Given the description of an element on the screen output the (x, y) to click on. 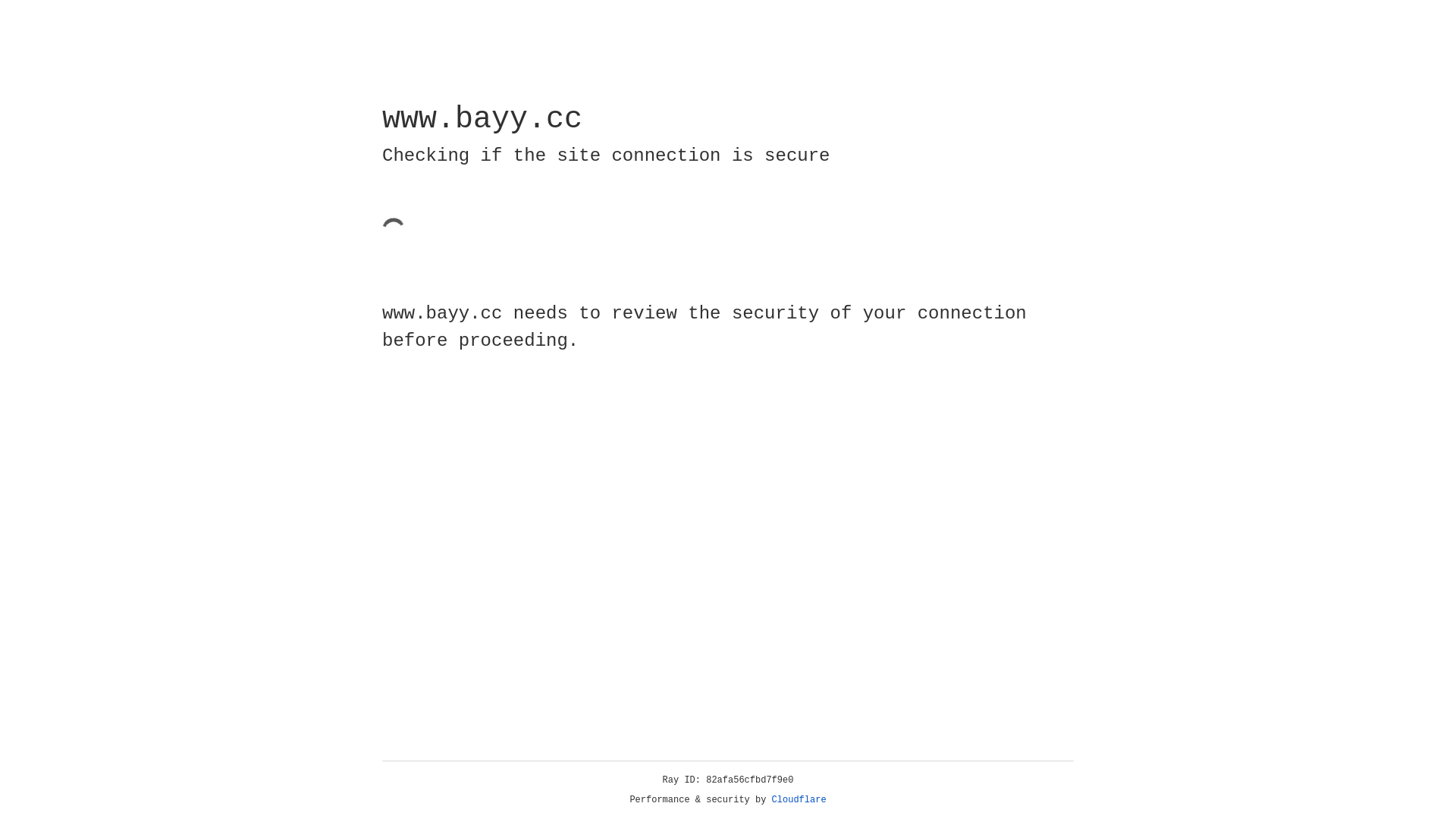
Cloudflare Element type: text (798, 799)
